Given the description of an element on the screen output the (x, y) to click on. 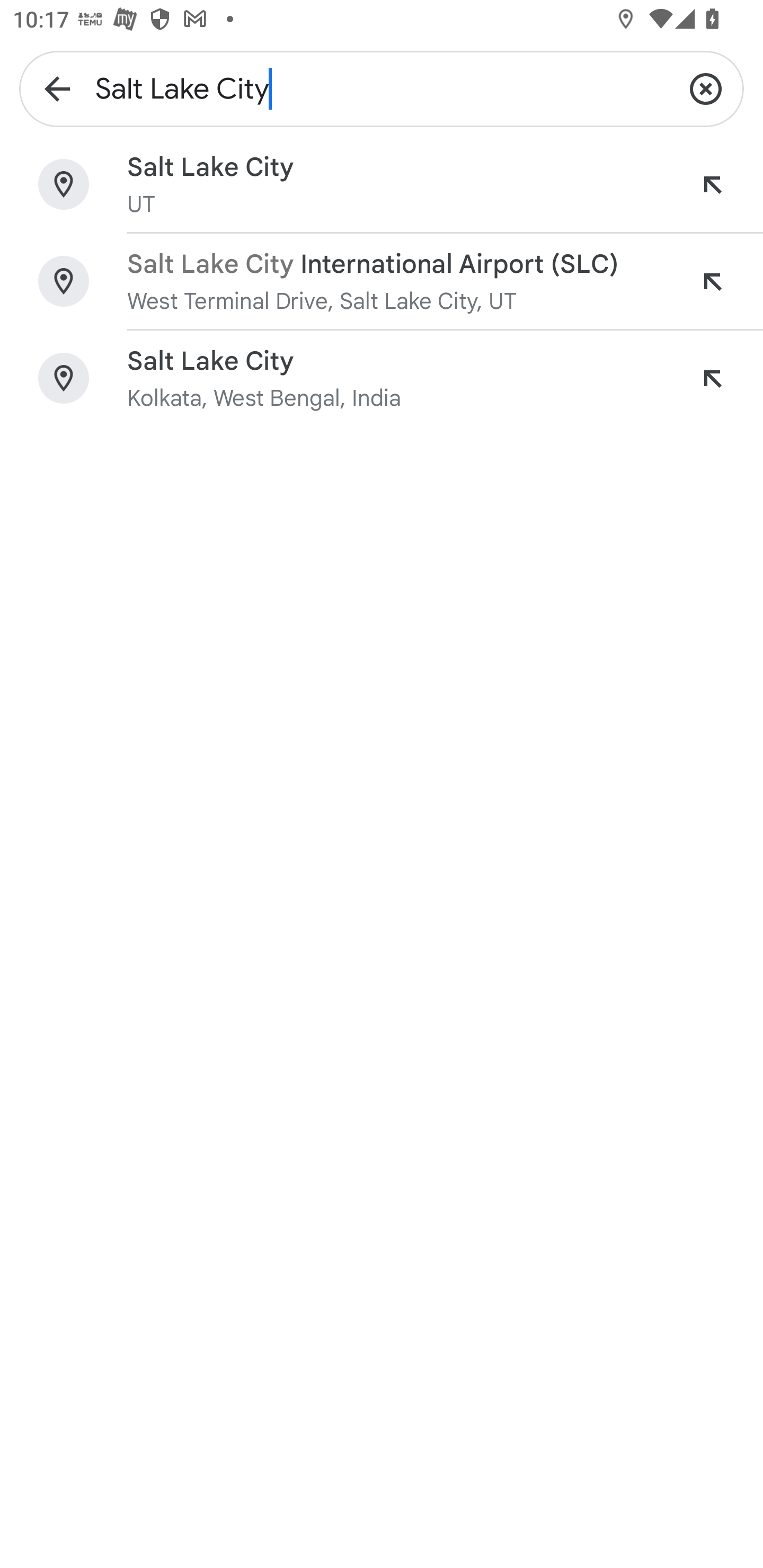
Navigate up (57, 88)
Salt Lake City (381, 88)
Clear (705, 88)
